Given the description of an element on the screen output the (x, y) to click on. 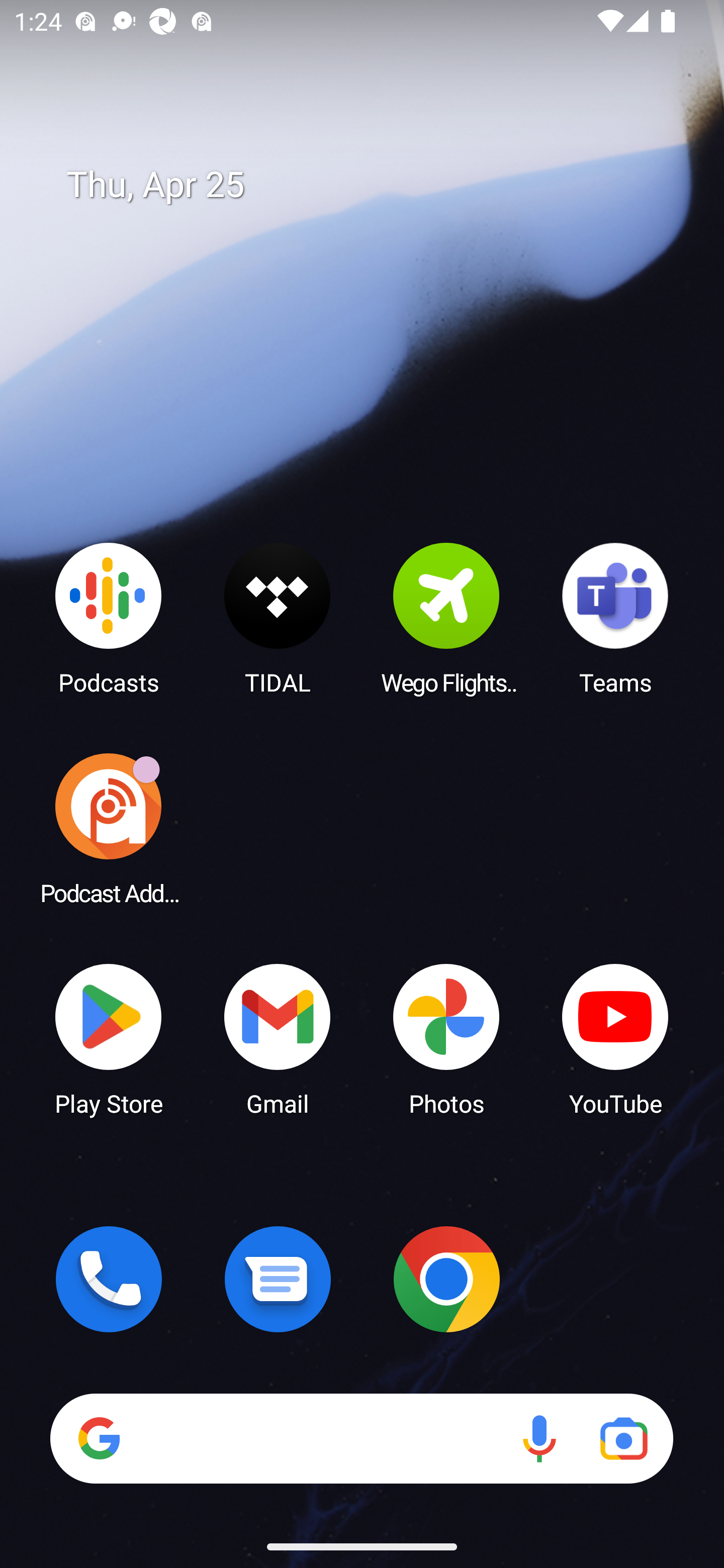
Thu, Apr 25 (375, 184)
Podcasts (108, 617)
TIDAL (277, 617)
Wego Flights & Hotels (445, 617)
Teams (615, 617)
Play Store (108, 1038)
Gmail (277, 1038)
Photos (445, 1038)
YouTube (615, 1038)
Phone (108, 1279)
Messages (277, 1279)
Chrome (446, 1279)
Search Voice search Google Lens (361, 1438)
Voice search (539, 1438)
Google Lens (623, 1438)
